Given the description of an element on the screen output the (x, y) to click on. 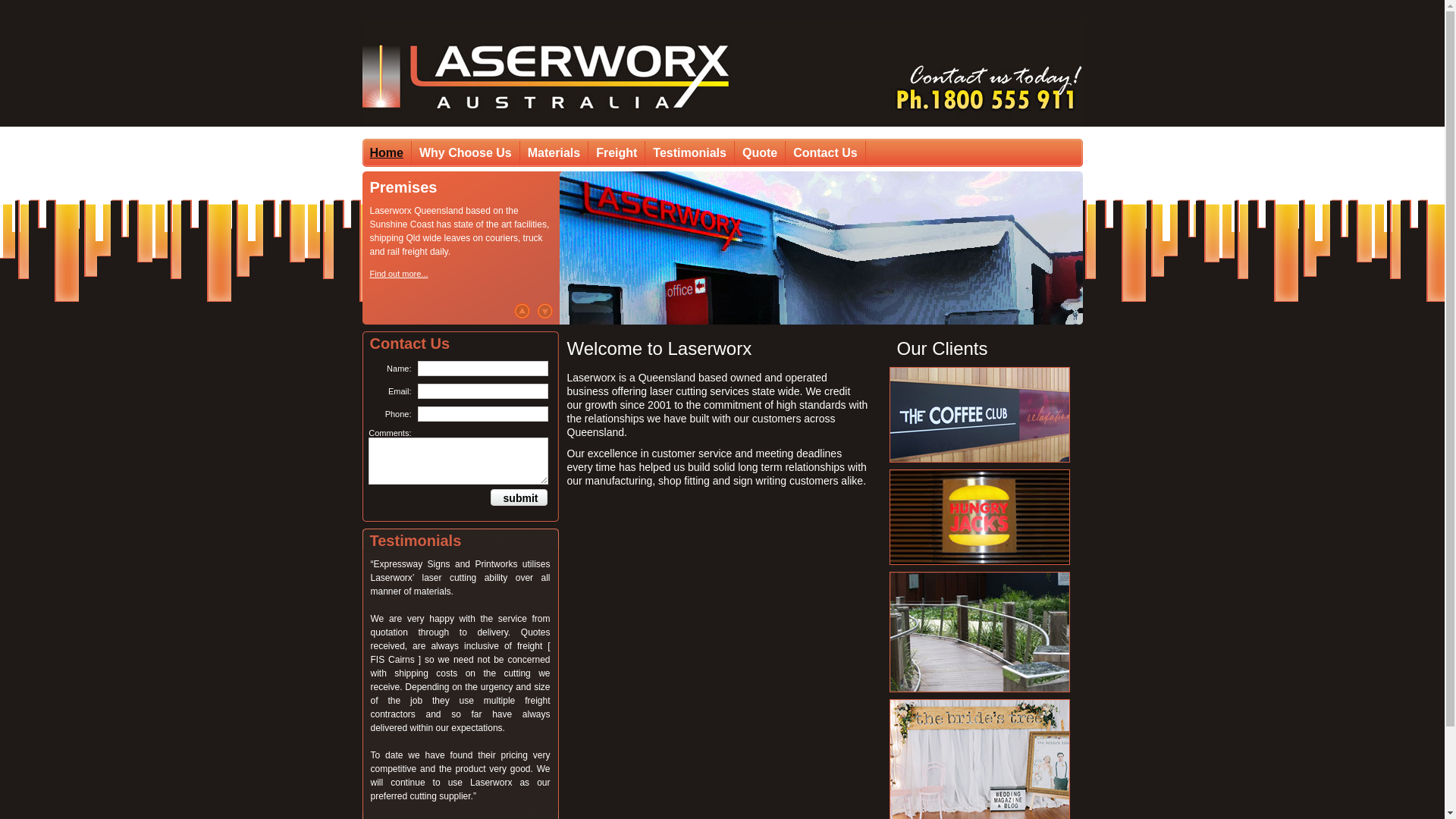
Find out more... Element type: text (399, 273)
Materials Element type: text (554, 153)
Freight Element type: text (616, 153)
Why Choose Us Element type: text (465, 153)
Quote Element type: text (759, 153)
Home Element type: text (386, 153)
Testimonials Element type: text (689, 153)
Contact Us Element type: text (825, 153)
submit Element type: text (516, 497)
